Given the description of an element on the screen output the (x, y) to click on. 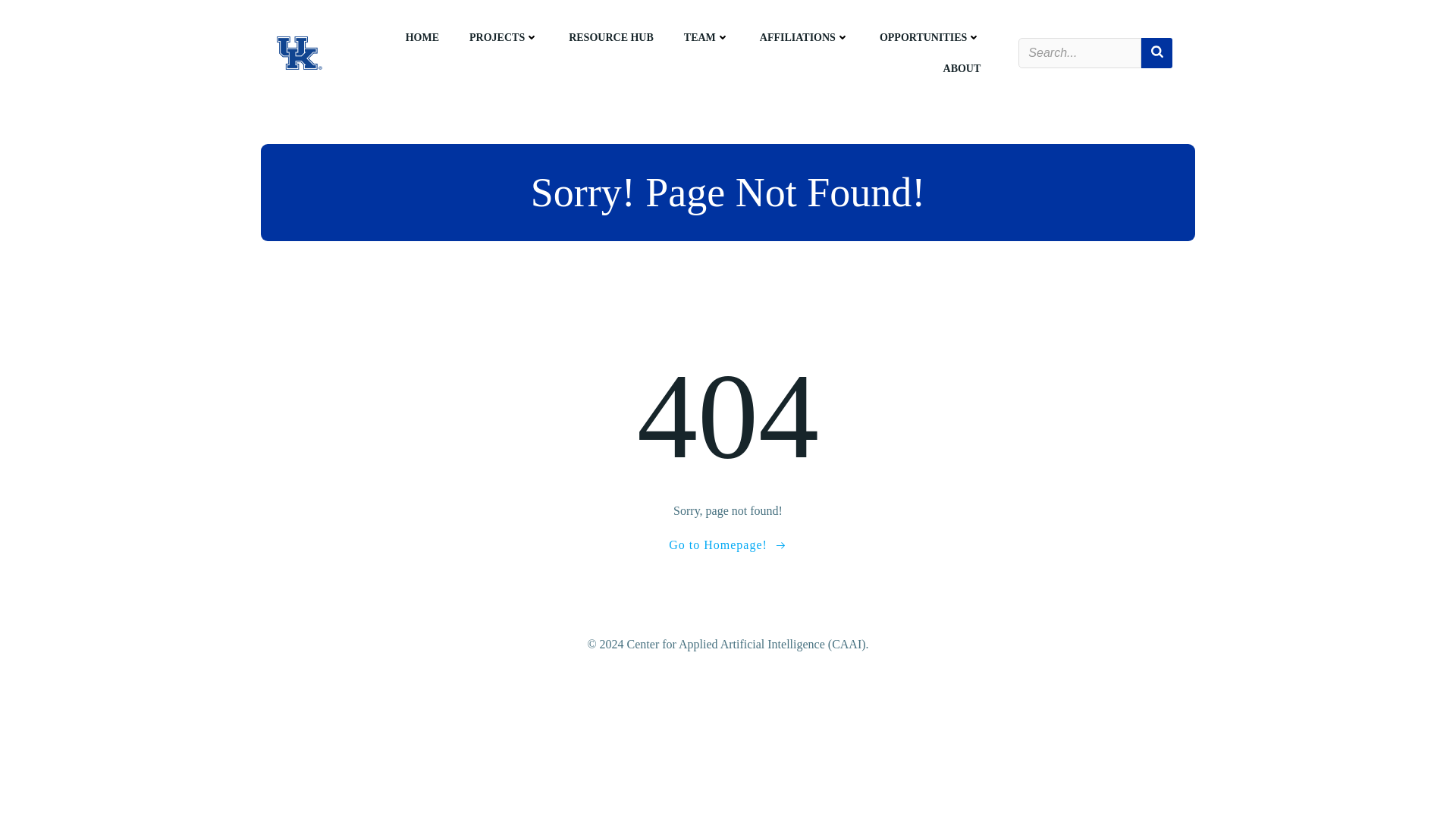
ABOUT (962, 68)
RESOURCE HUB (611, 37)
TEAM (706, 37)
AFFILIATIONS (804, 37)
PROJECTS (503, 37)
HOME (422, 37)
OPPORTUNITIES (929, 37)
Go to Homepage! (727, 544)
